Given the description of an element on the screen output the (x, y) to click on. 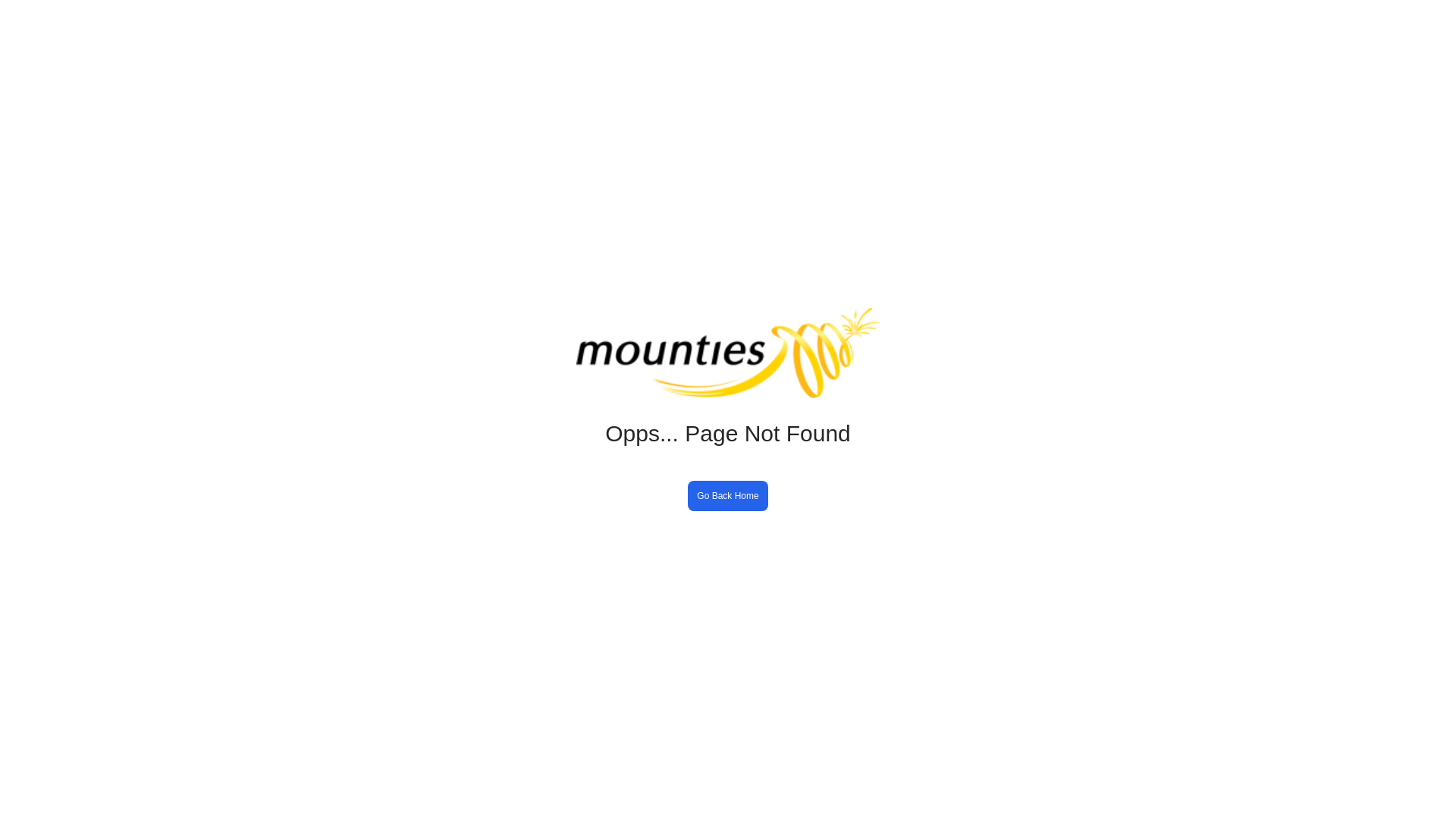
Go Back Home Element type: text (727, 488)
